Given the description of an element on the screen output the (x, y) to click on. 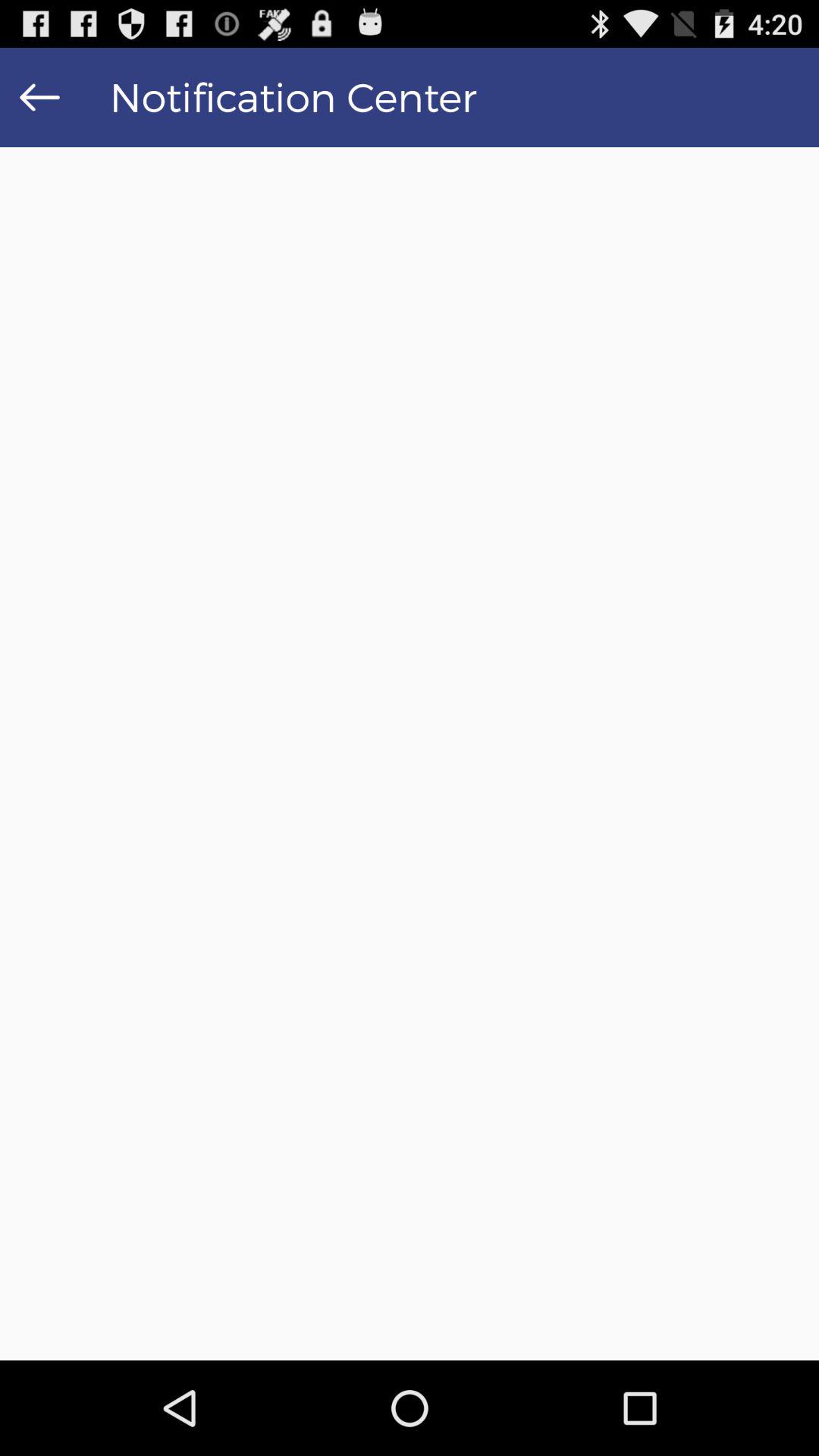
launch icon at the top left corner (39, 97)
